Given the description of an element on the screen output the (x, y) to click on. 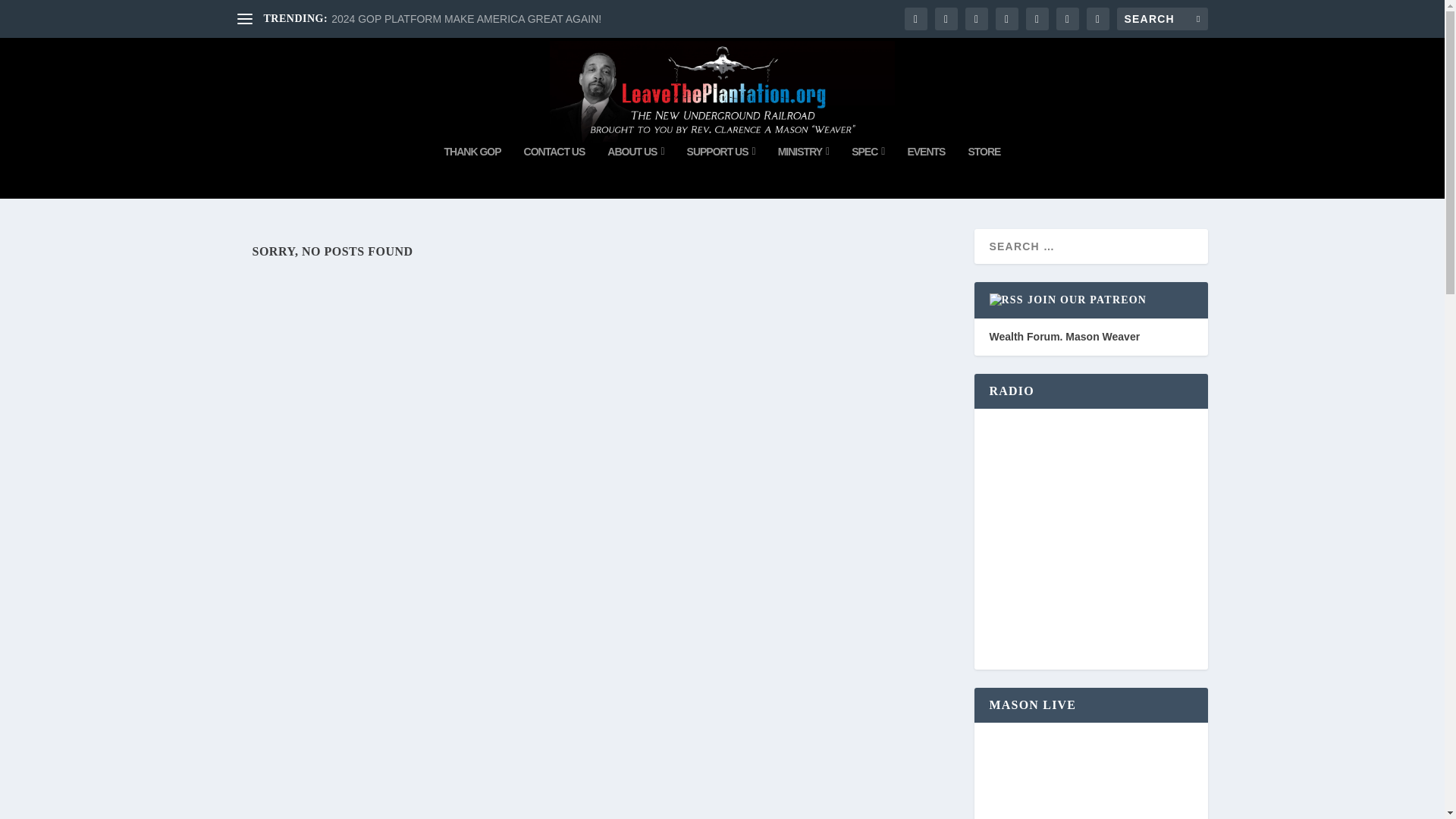
SUPPORT US (721, 172)
MINISTRY (803, 172)
THANK GOP (472, 172)
CONTACT US (554, 172)
ABOUT US (635, 172)
Search for: (1161, 18)
2024 GOP PLATFORM MAKE AMERICA GREAT AGAIN! (466, 19)
